Given the description of an element on the screen output the (x, y) to click on. 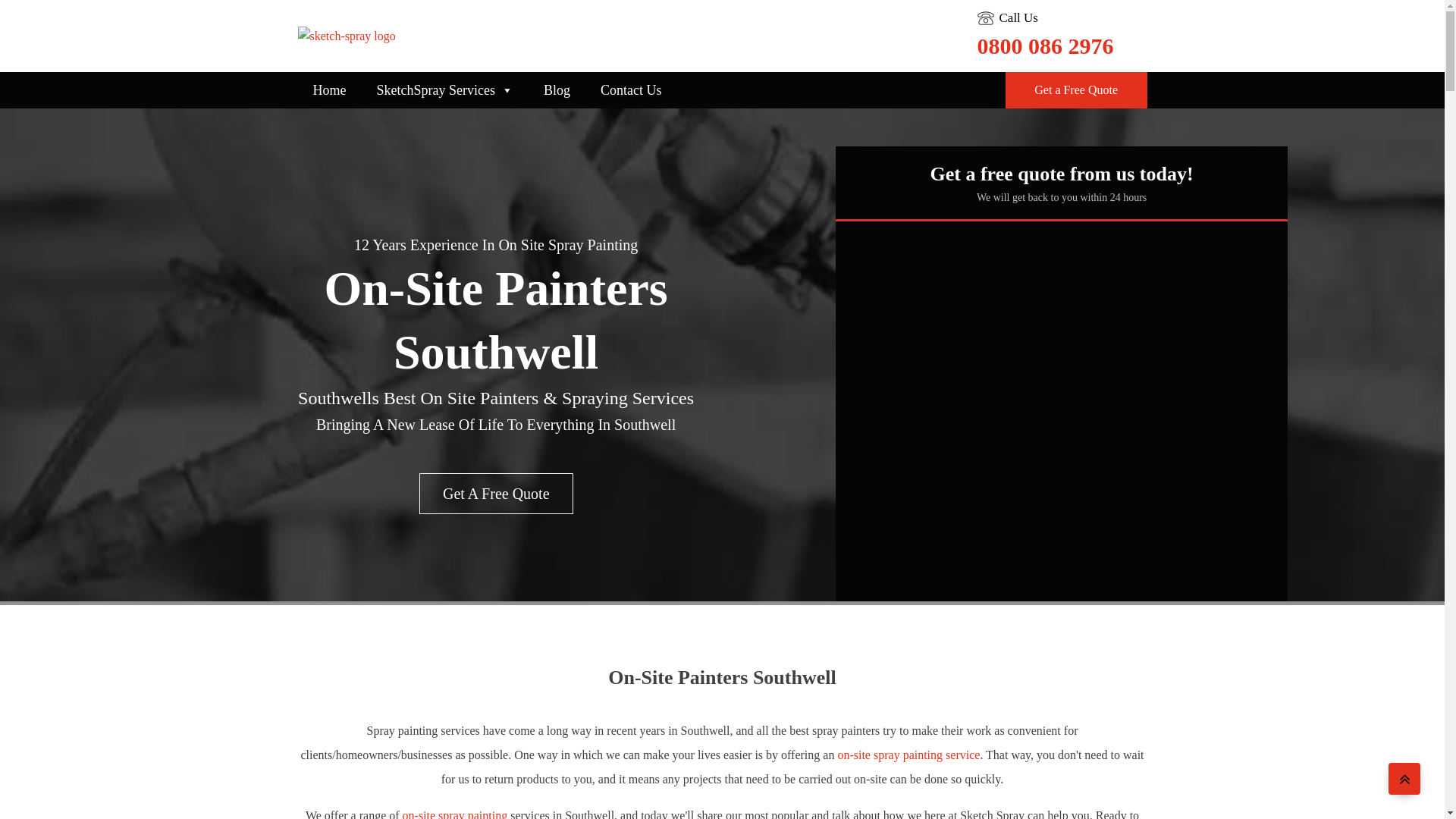
Get a Free Quote (1076, 90)
Contact Us (631, 90)
SketchSpray Services (444, 90)
Get A Free Quote (496, 493)
Blog (556, 90)
Home (329, 90)
on-site spray painting (455, 814)
on-site spray painting service (908, 754)
0800 086 2976 (1044, 45)
